Given the description of an element on the screen output the (x, y) to click on. 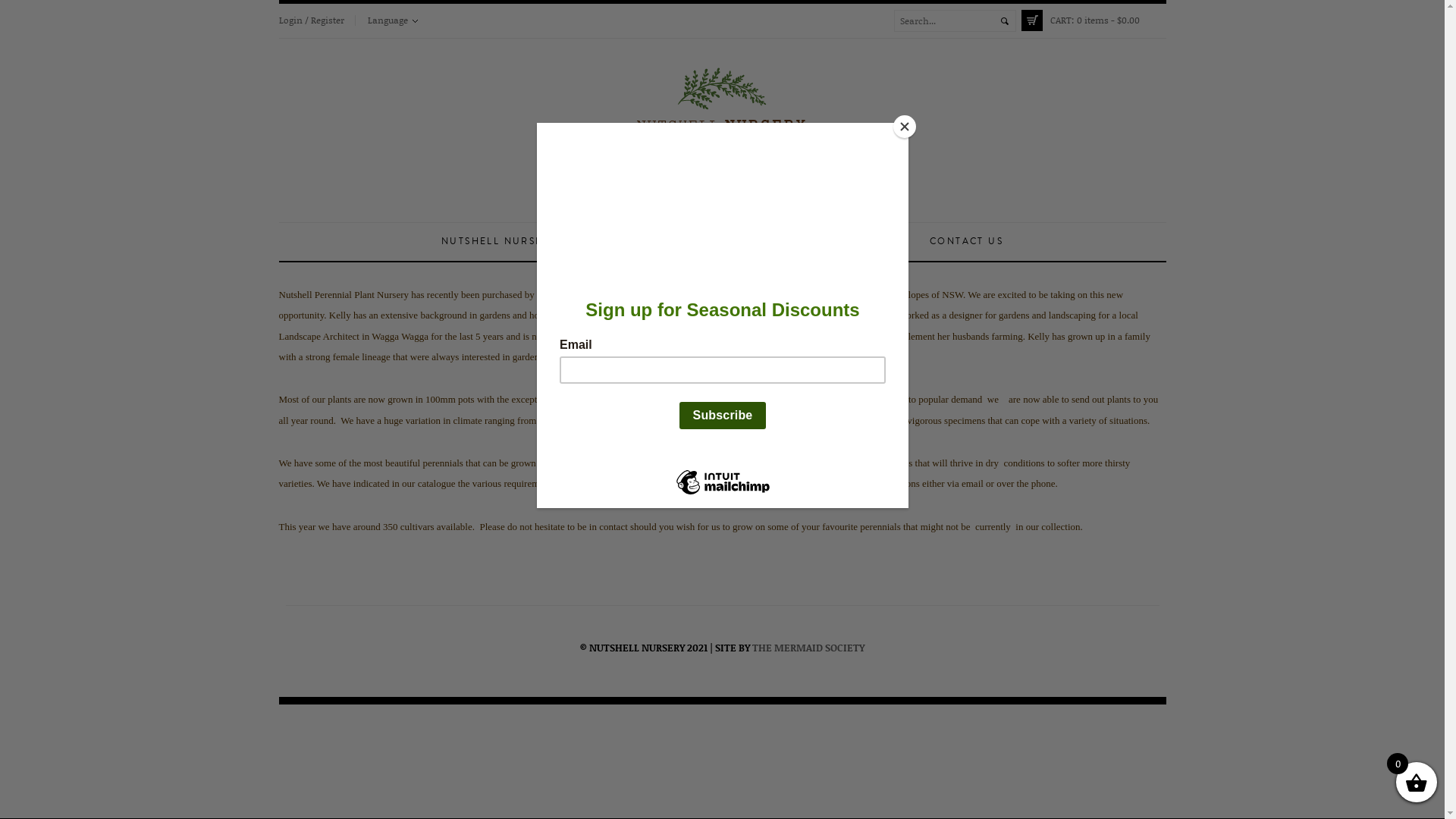
CONTACT US Element type: text (966, 241)
FAQS Element type: text (885, 241)
THE MERMAID SOCIETY Element type: text (808, 647)
CART: 0 items - $0.00 Element type: text (1092, 20)
ABOUT US Element type: text (615, 241)
Language Element type: text (391, 20)
Login / Register Element type: text (311, 20)
ALL PLANTS Element type: text (708, 241)
NUTSHELL NURSERY Element type: text (499, 241)
CATALOGUE Element type: text (806, 241)
